Given the description of an element on the screen output the (x, y) to click on. 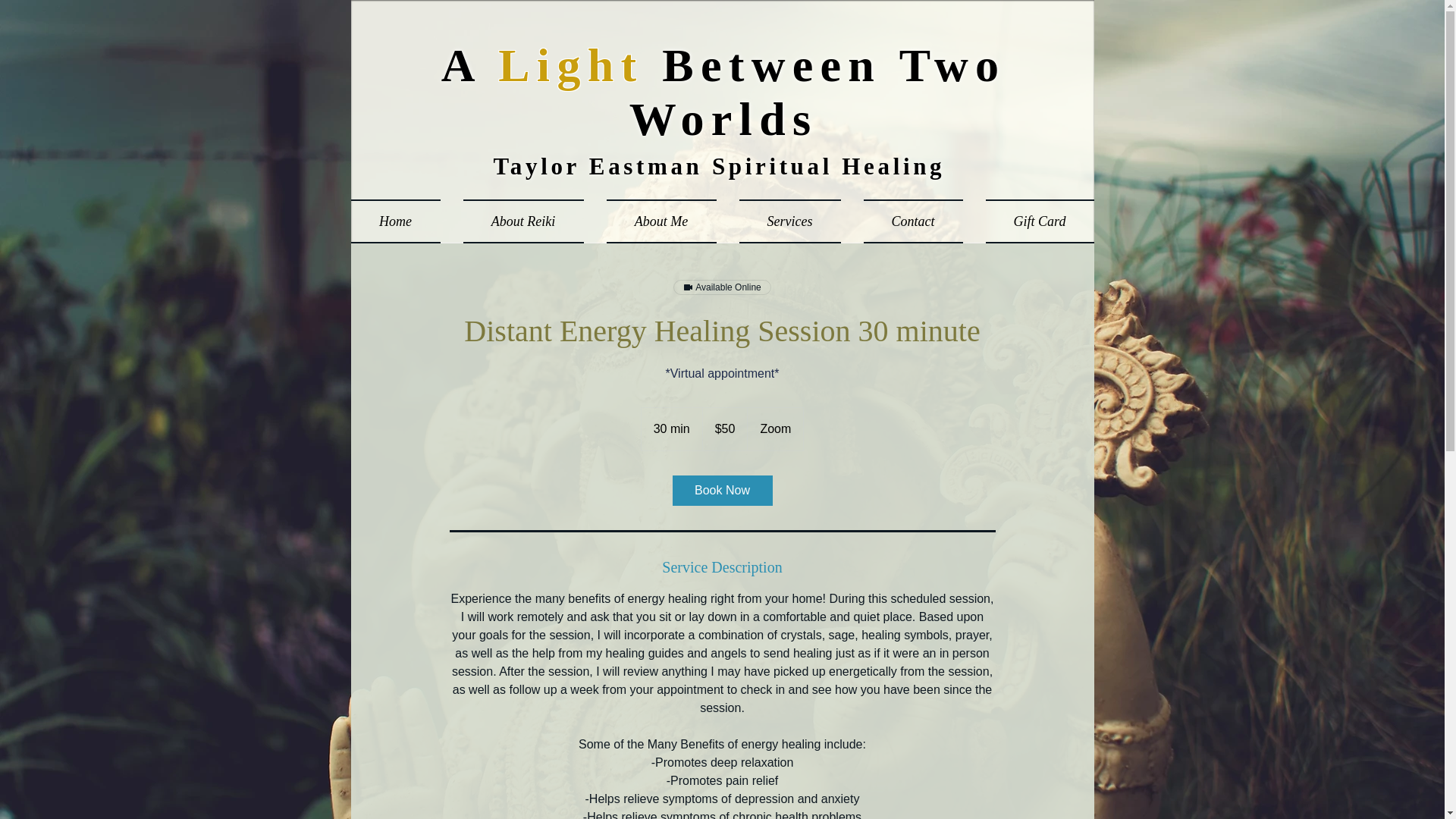
Book Now (721, 490)
Services (789, 221)
Gift Card (1033, 221)
Taylor Eastman  (602, 166)
About Reiki (523, 221)
Home (400, 221)
Contact (912, 221)
About Me (660, 221)
